Given the description of an element on the screen output the (x, y) to click on. 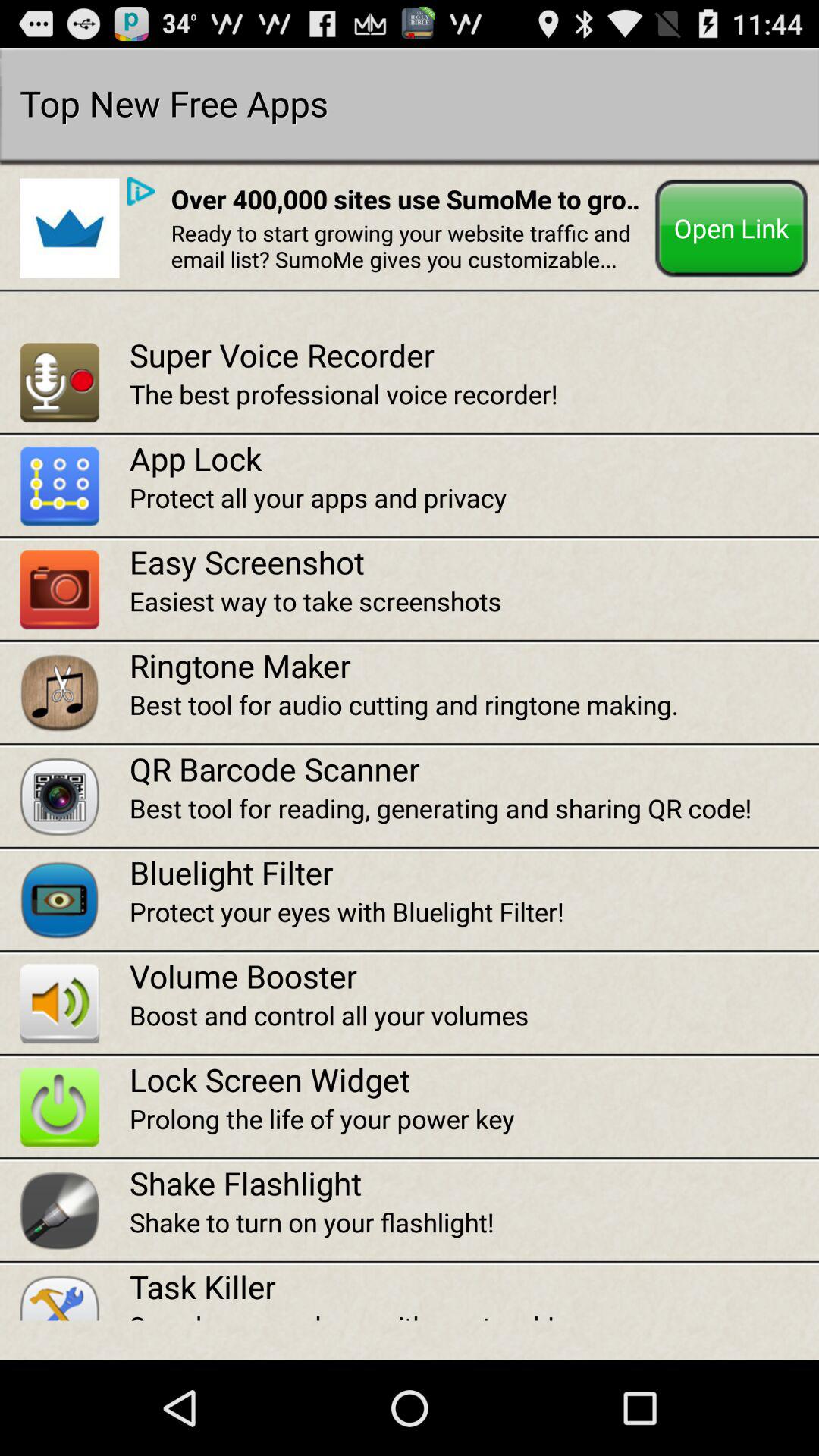
tap shake to turn item (474, 1221)
